Given the description of an element on the screen output the (x, y) to click on. 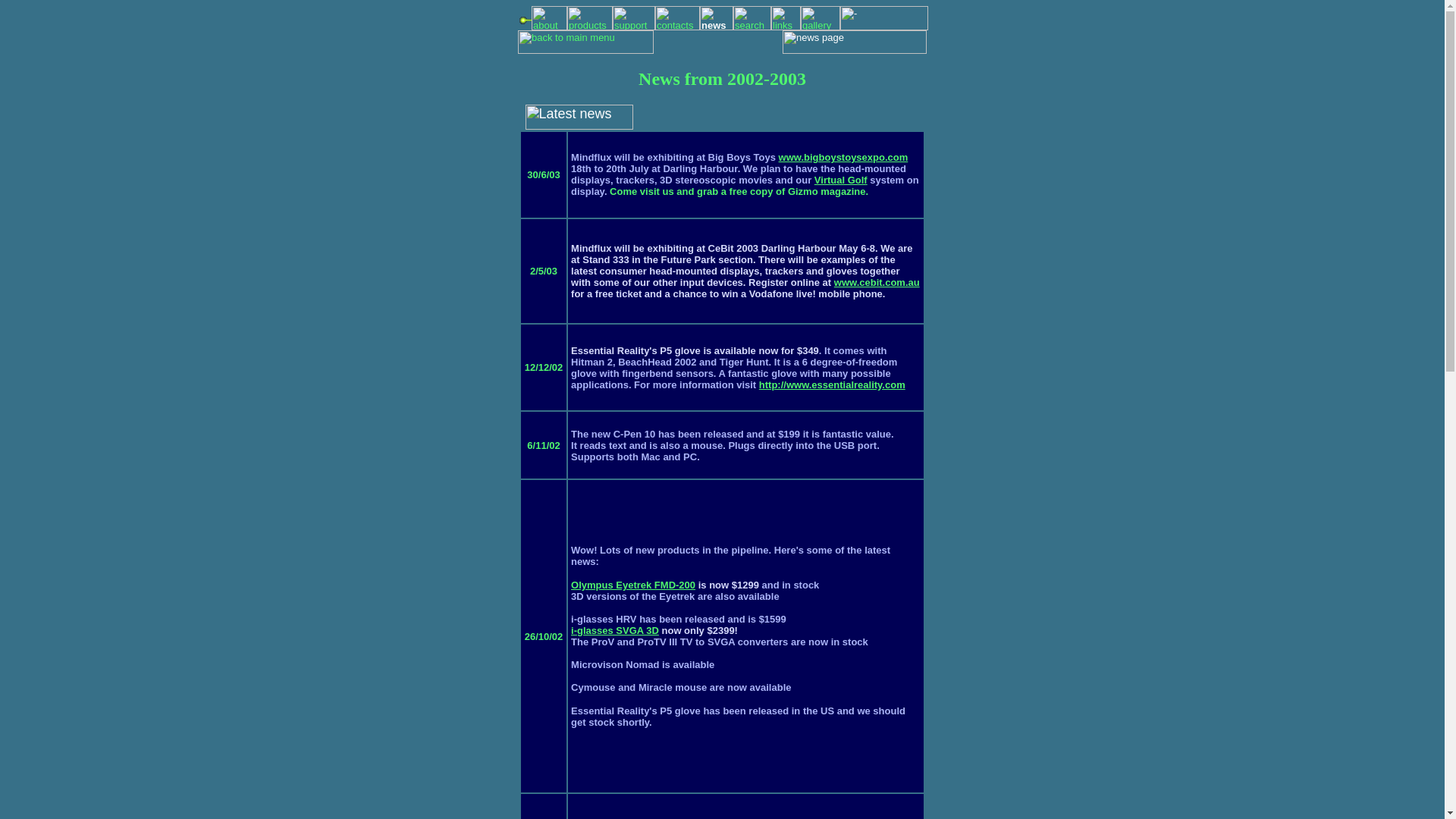
Olympus Eyetrek FMD-200 (632, 584)
Virtual Golf (840, 179)
www.cebit.com.au (877, 282)
www.bigboystoysexpo.com (843, 156)
i-glasses SVGA 3D (614, 630)
